Given the description of an element on the screen output the (x, y) to click on. 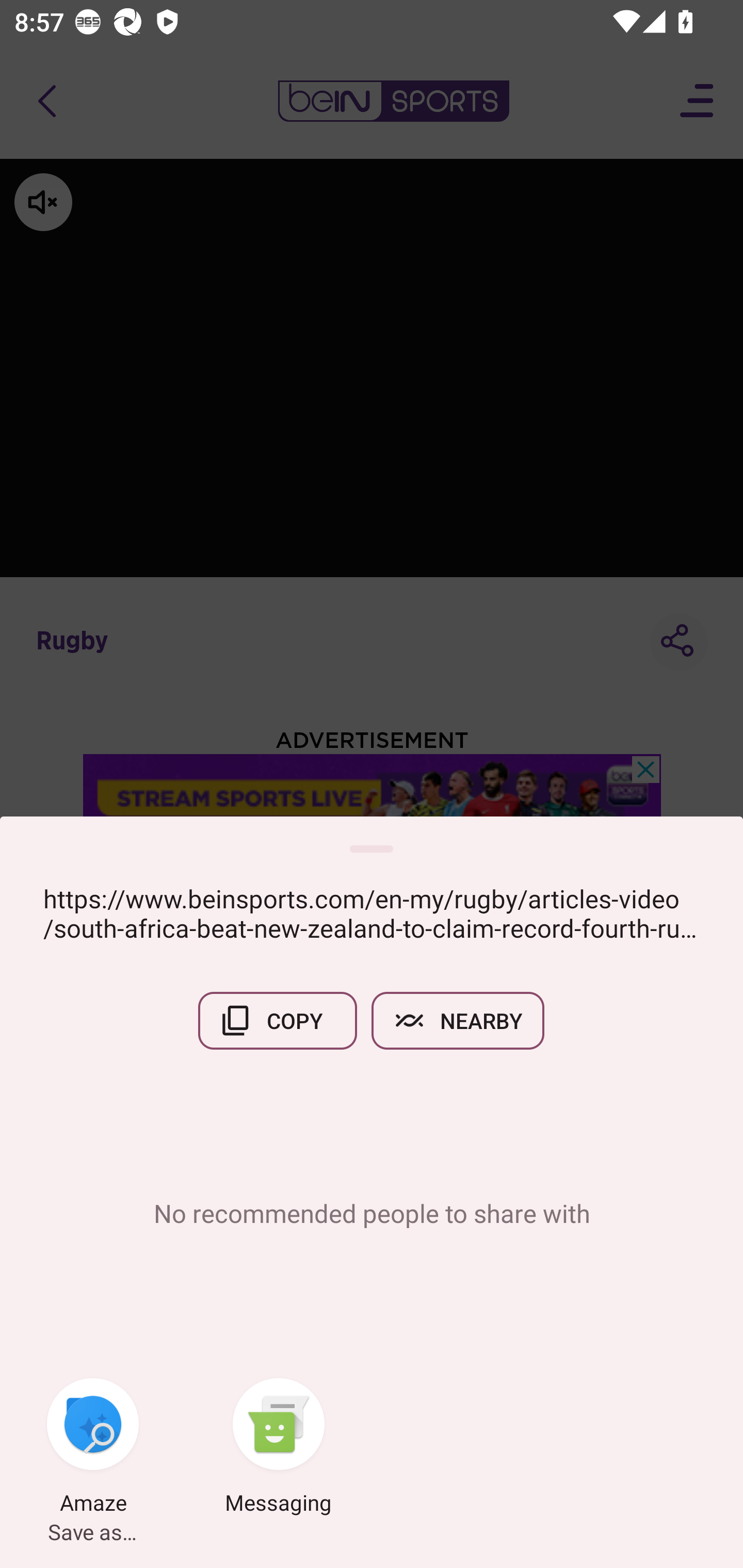
COPY (277, 1020)
NEARBY (457, 1020)
Amaze Save as… (92, 1448)
Messaging (278, 1448)
